Given the description of an element on the screen output the (x, y) to click on. 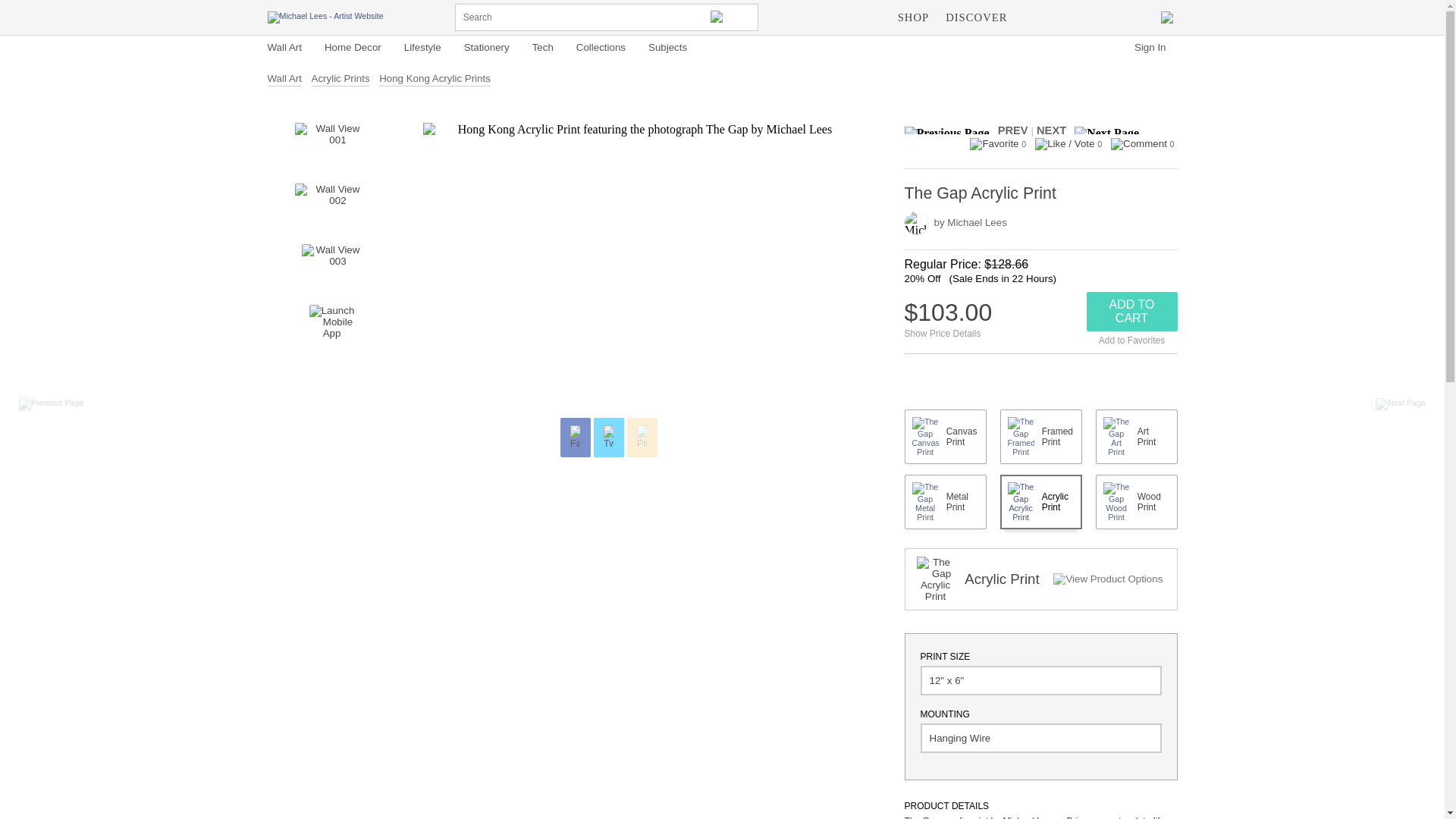
Wall View 001 (331, 145)
Search (730, 17)
Favorite (993, 143)
Launch Mobile App (331, 327)
Comment (1138, 143)
SHOP (913, 16)
DISCOVER (976, 16)
Wall View 002 (331, 206)
Wall View 003 (331, 266)
